Given the description of an element on the screen output the (x, y) to click on. 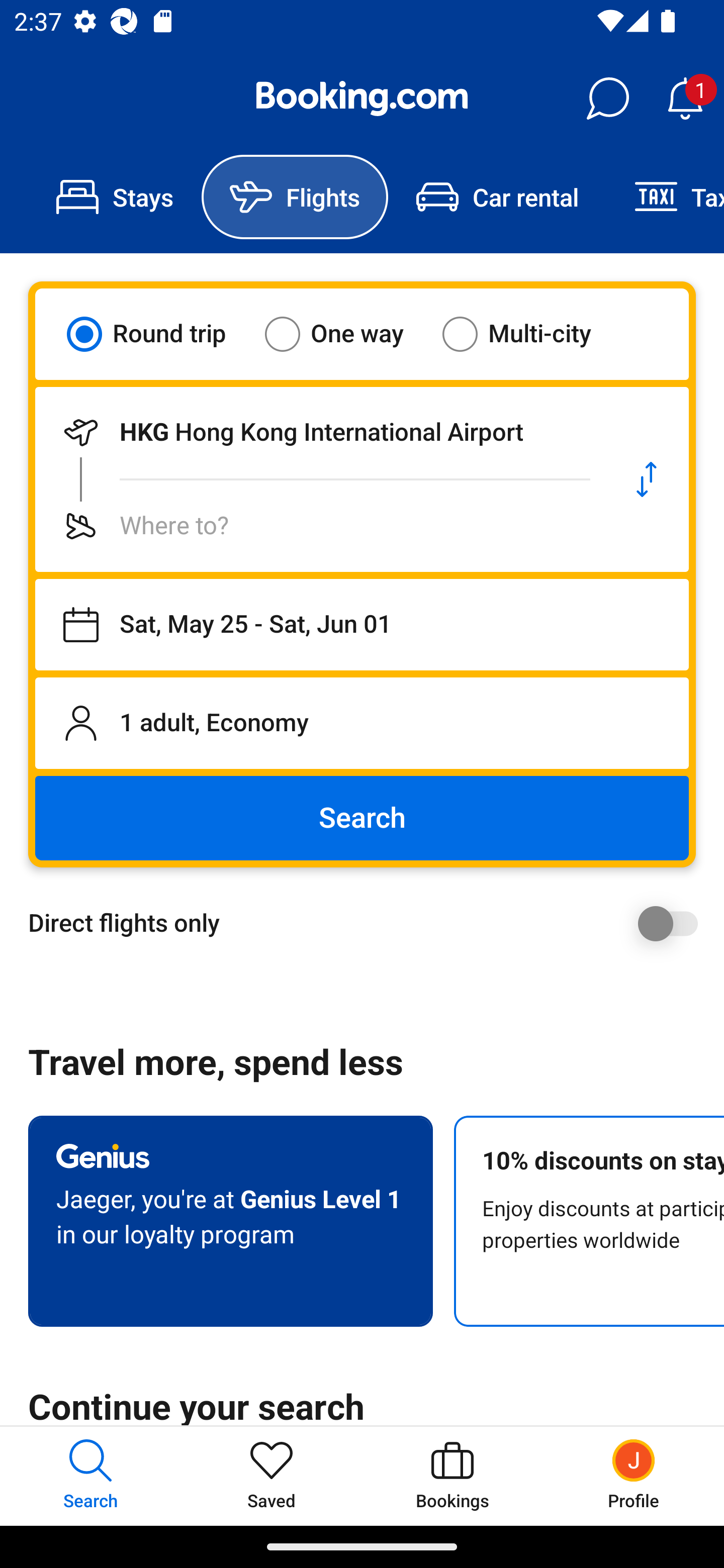
Messages (607, 98)
Notifications (685, 98)
Stays (114, 197)
Flights (294, 197)
Car rental (497, 197)
Taxi (665, 197)
One way (346, 333)
Multi-city (528, 333)
Departing from HKG Hong Kong International Airport (319, 432)
Swap departure location and destination (646, 479)
Flying to  (319, 525)
Departing on Sat, May 25, returning on Sat, Jun 01 (361, 624)
1 adult, Economy (361, 722)
Search (361, 818)
Direct flights only (369, 923)
Saved (271, 1475)
Bookings (452, 1475)
Profile (633, 1475)
